Given the description of an element on the screen output the (x, y) to click on. 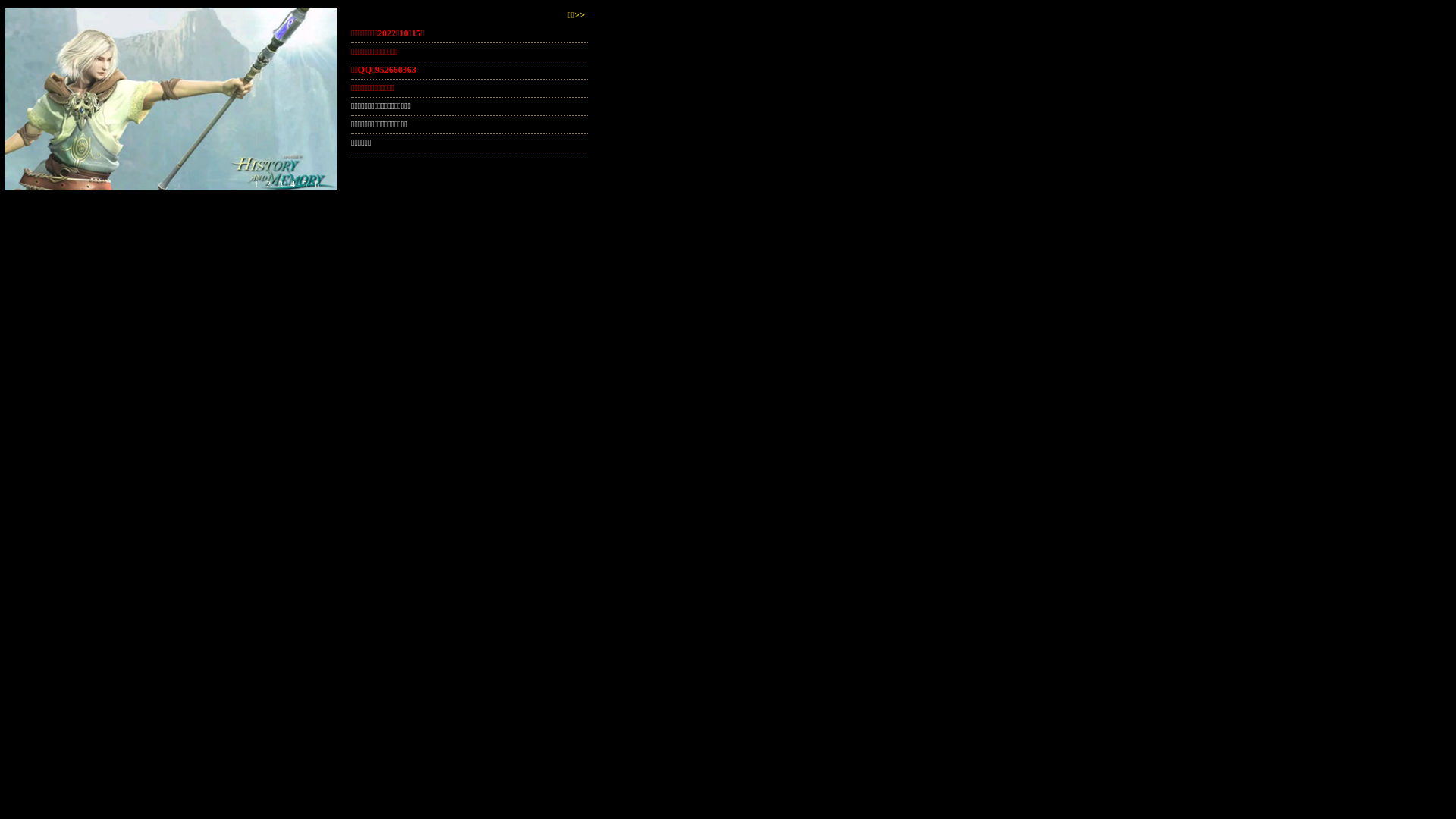
3 Element type: text (280, 183)
4 Element type: text (292, 183)
6 Element type: text (316, 183)
2 Element type: text (268, 183)
5 Element type: text (304, 183)
1 Element type: text (256, 183)
